Given the description of an element on the screen output the (x, y) to click on. 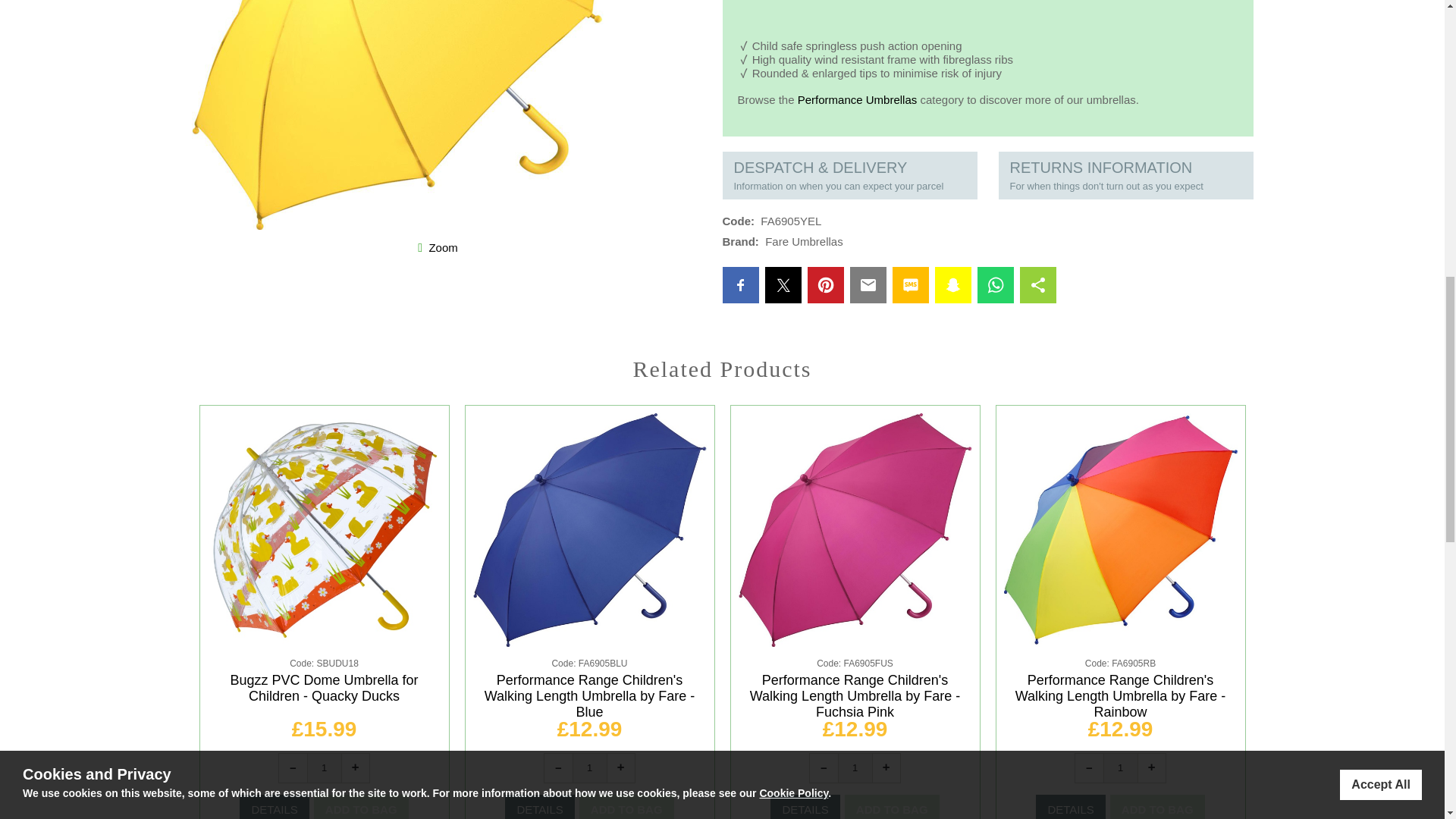
1 (322, 767)
1 (1119, 767)
DETAILS (539, 806)
Bugzz PVC Dome Umbrella for Children - Quacky Ducks (323, 687)
ADD TO BAG (361, 806)
ADD TO BAG (626, 806)
Performance Umbrellas (857, 99)
1 (854, 767)
DETAILS (805, 806)
DETAILS (274, 806)
1 (589, 767)
ADD TO BAG (891, 806)
Performance Umbrellas (857, 99)
